Given the description of an element on the screen output the (x, y) to click on. 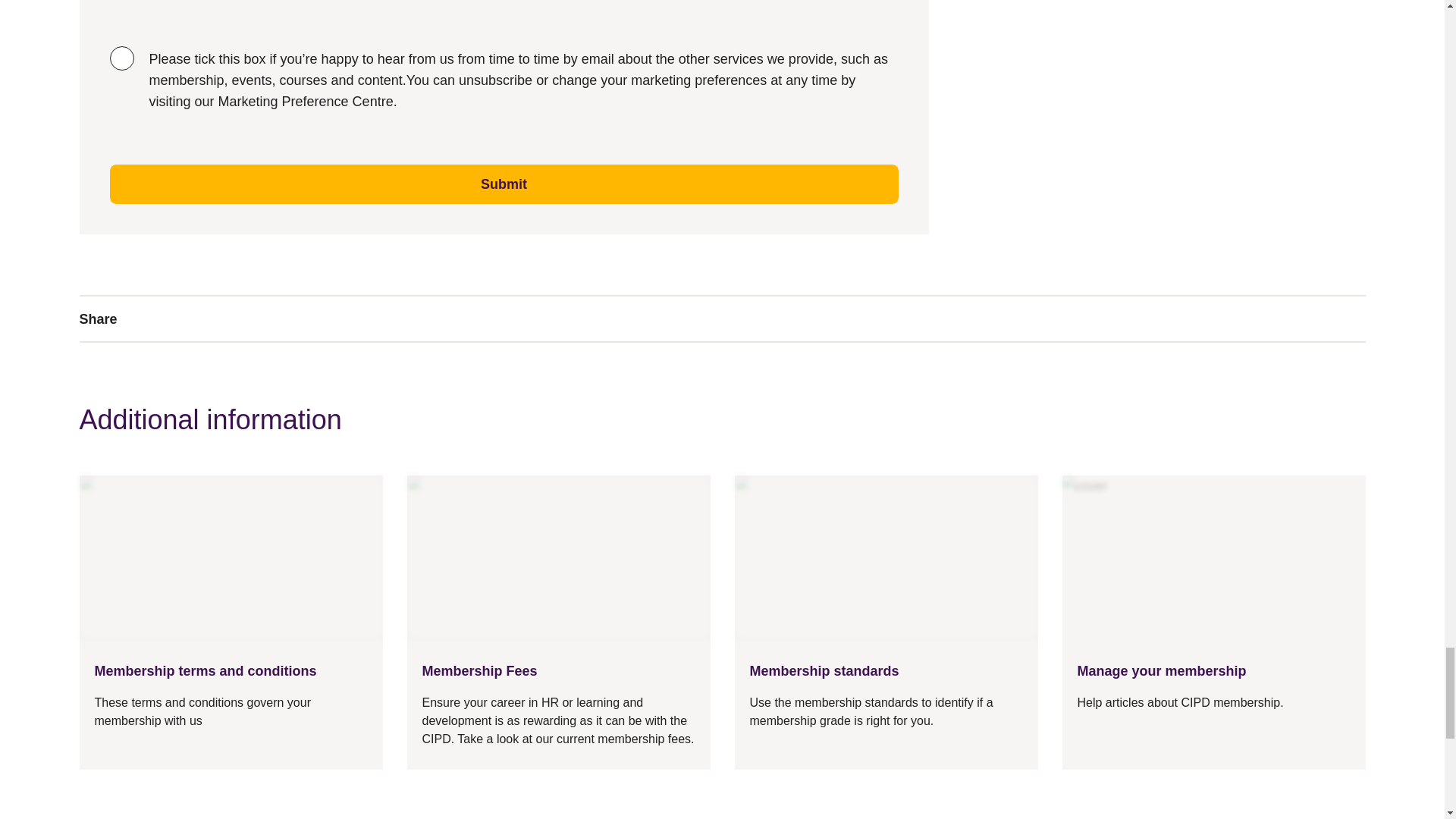
True (121, 57)
